Given the description of an element on the screen output the (x, y) to click on. 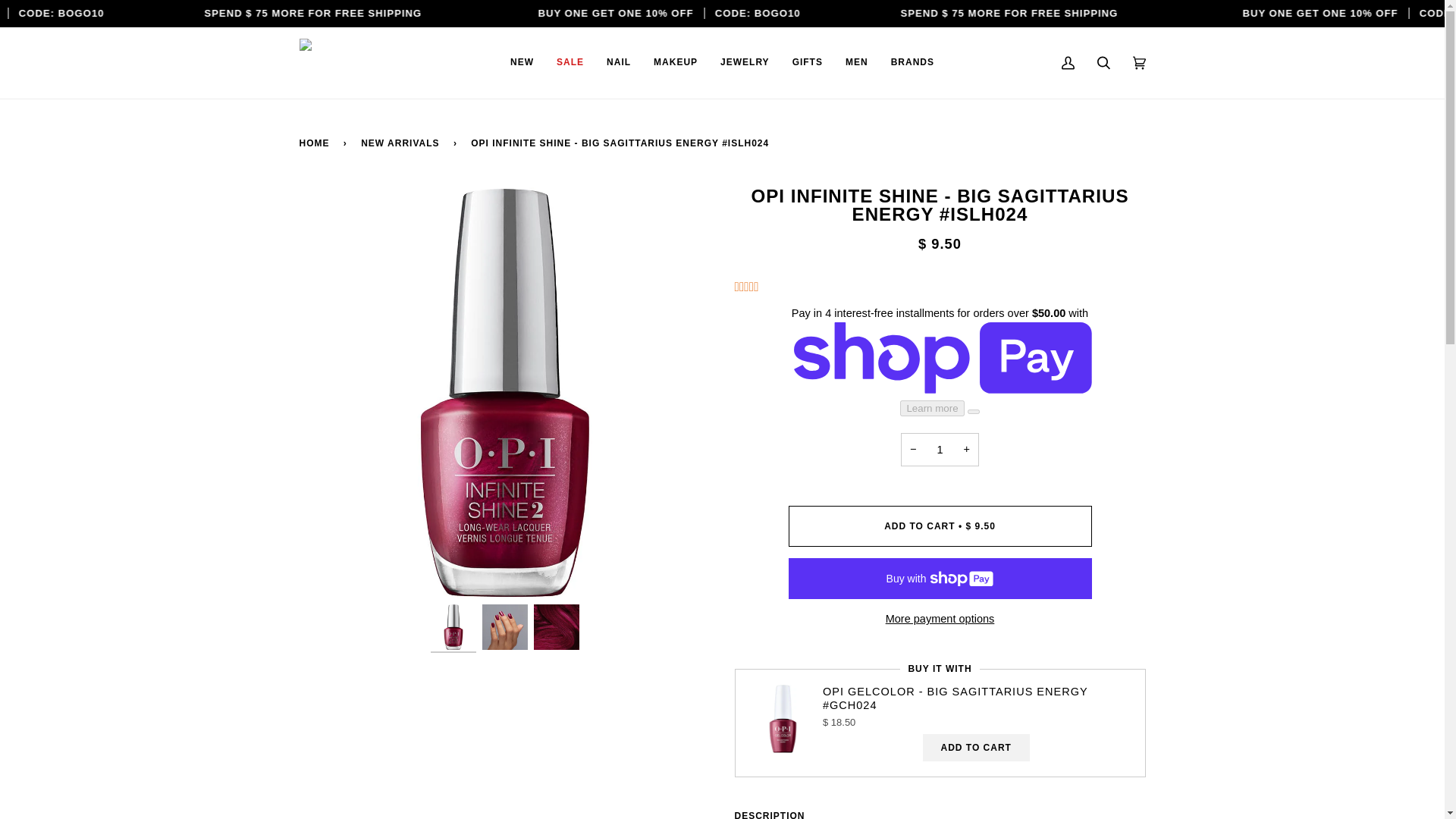
Back to the frontpage (316, 143)
1 (939, 449)
JEWELRY (744, 62)
MAKEUP (675, 62)
BRANDS (911, 62)
